Given the description of an element on the screen output the (x, y) to click on. 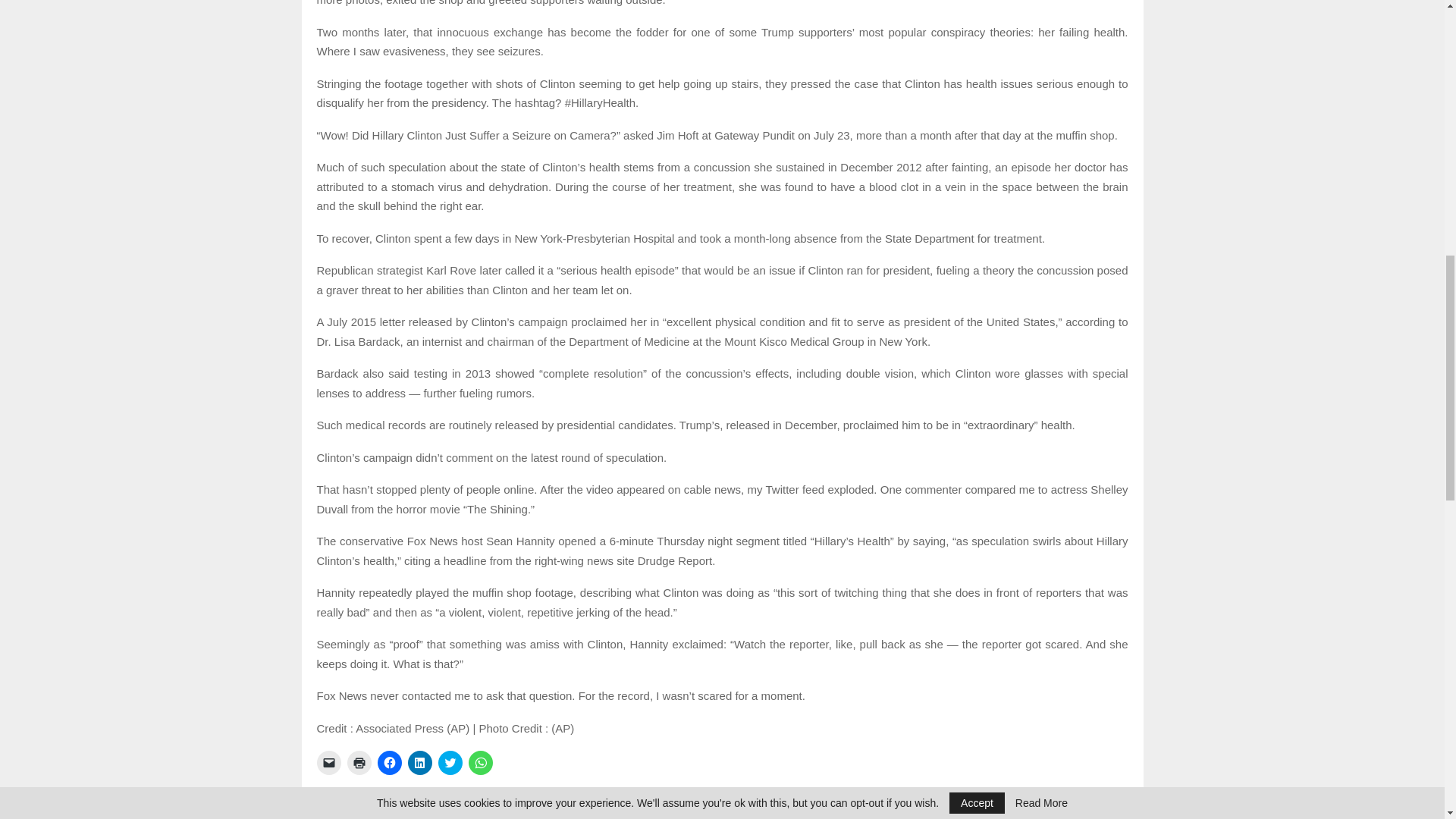
Click to share on Facebook (389, 762)
Click to share on LinkedIn (419, 762)
Click to email a link to a friend (328, 762)
Click to print (359, 762)
